Given the description of an element on the screen output the (x, y) to click on. 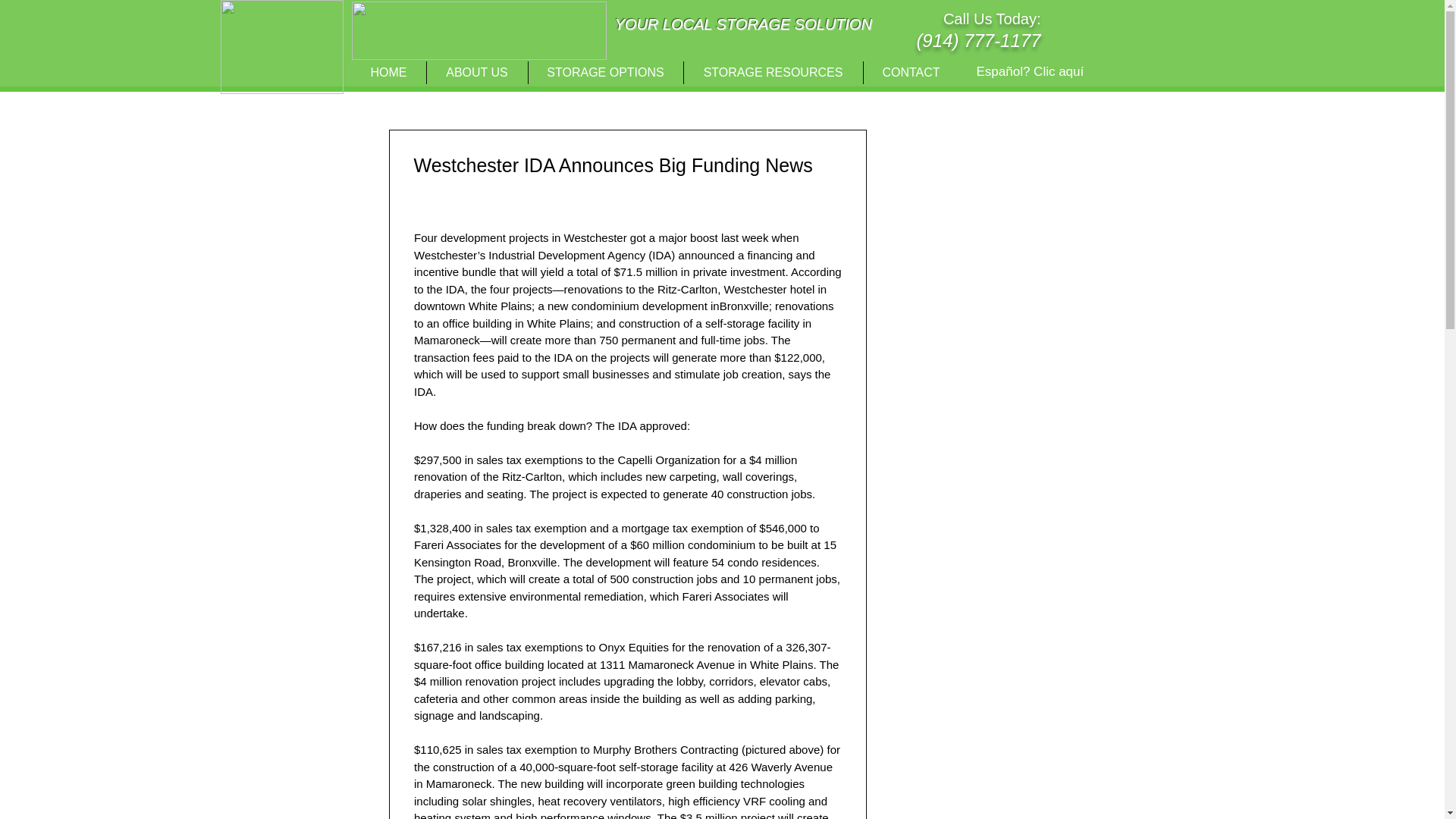
STORAGE RESOURCES (773, 72)
HOME (389, 72)
ABOUT US (476, 72)
STORAGE OPTIONS (604, 72)
CONTACT (910, 72)
